Given the description of an element on the screen output the (x, y) to click on. 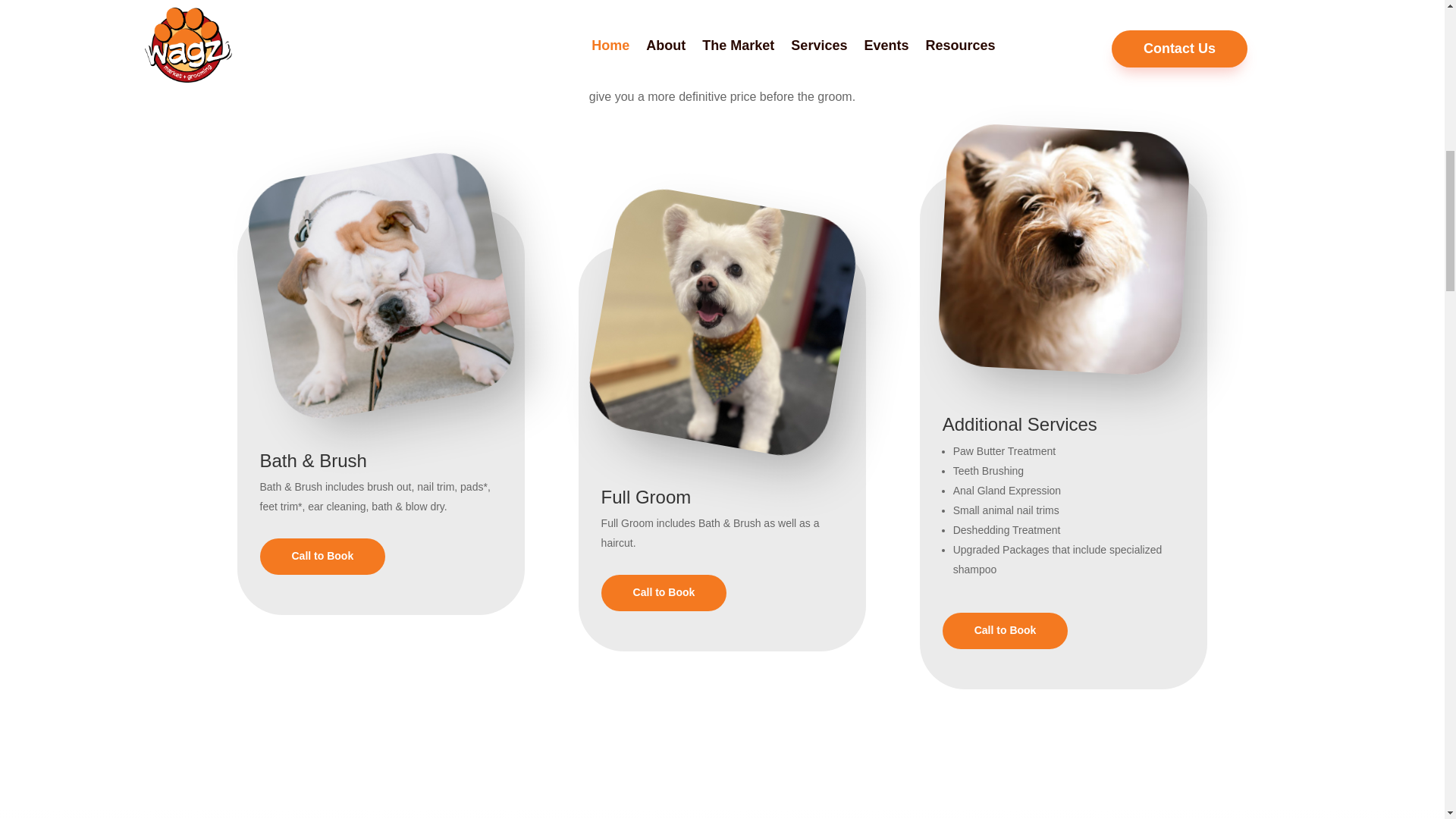
Call to Book (663, 592)
Call to Book (1005, 630)
Call to Book (322, 556)
dog-walker-28 (1057, 243)
E17856F4-964A-47B2-94B1-A8CDC1AC1EA8 (702, 302)
